Given the description of an element on the screen output the (x, y) to click on. 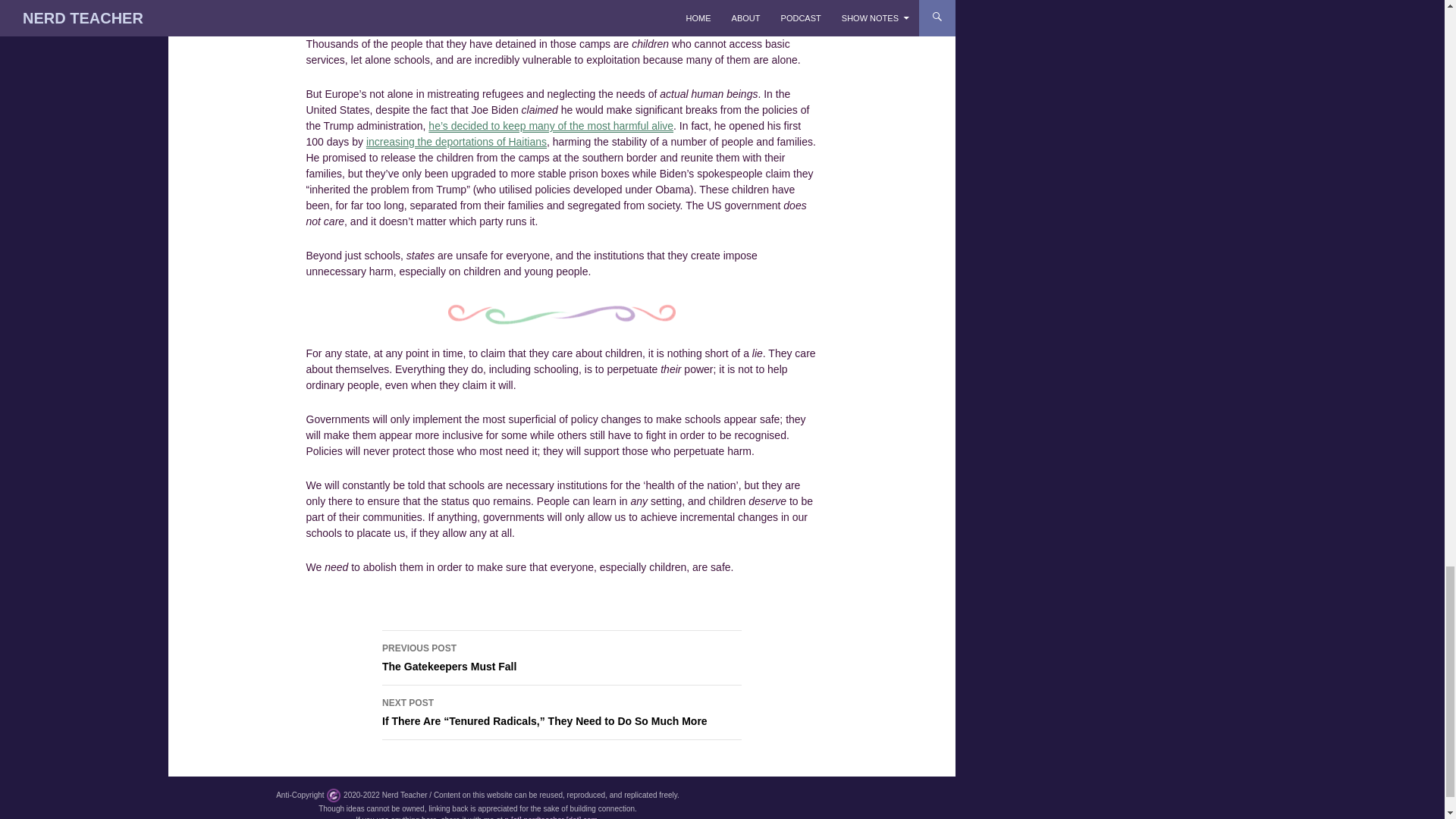
increasing the deportations of Haitians (456, 141)
Italy is doing its best to criminalise migration (558, 9)
